Given the description of an element on the screen output the (x, y) to click on. 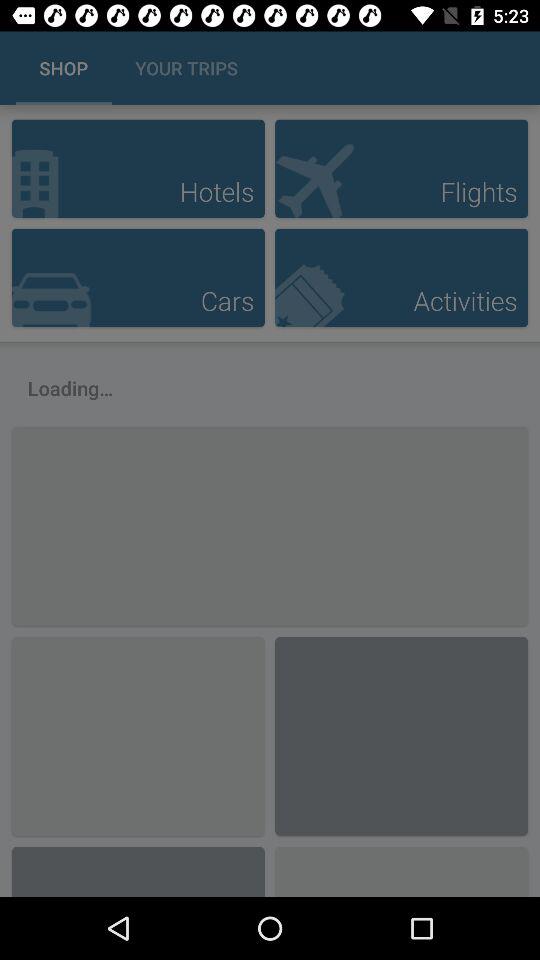
this is car parking (138, 277)
